Given the description of an element on the screen output the (x, y) to click on. 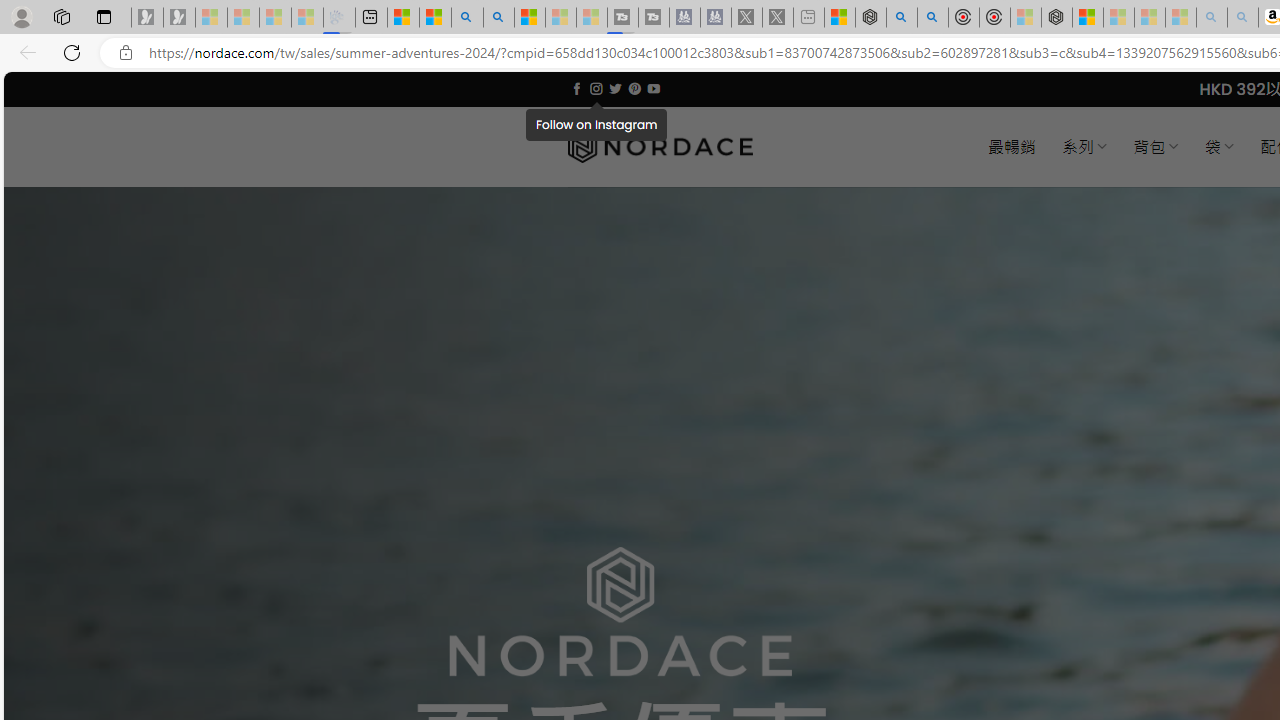
poe ++ standard - Search (932, 17)
